Given the description of an element on the screen output the (x, y) to click on. 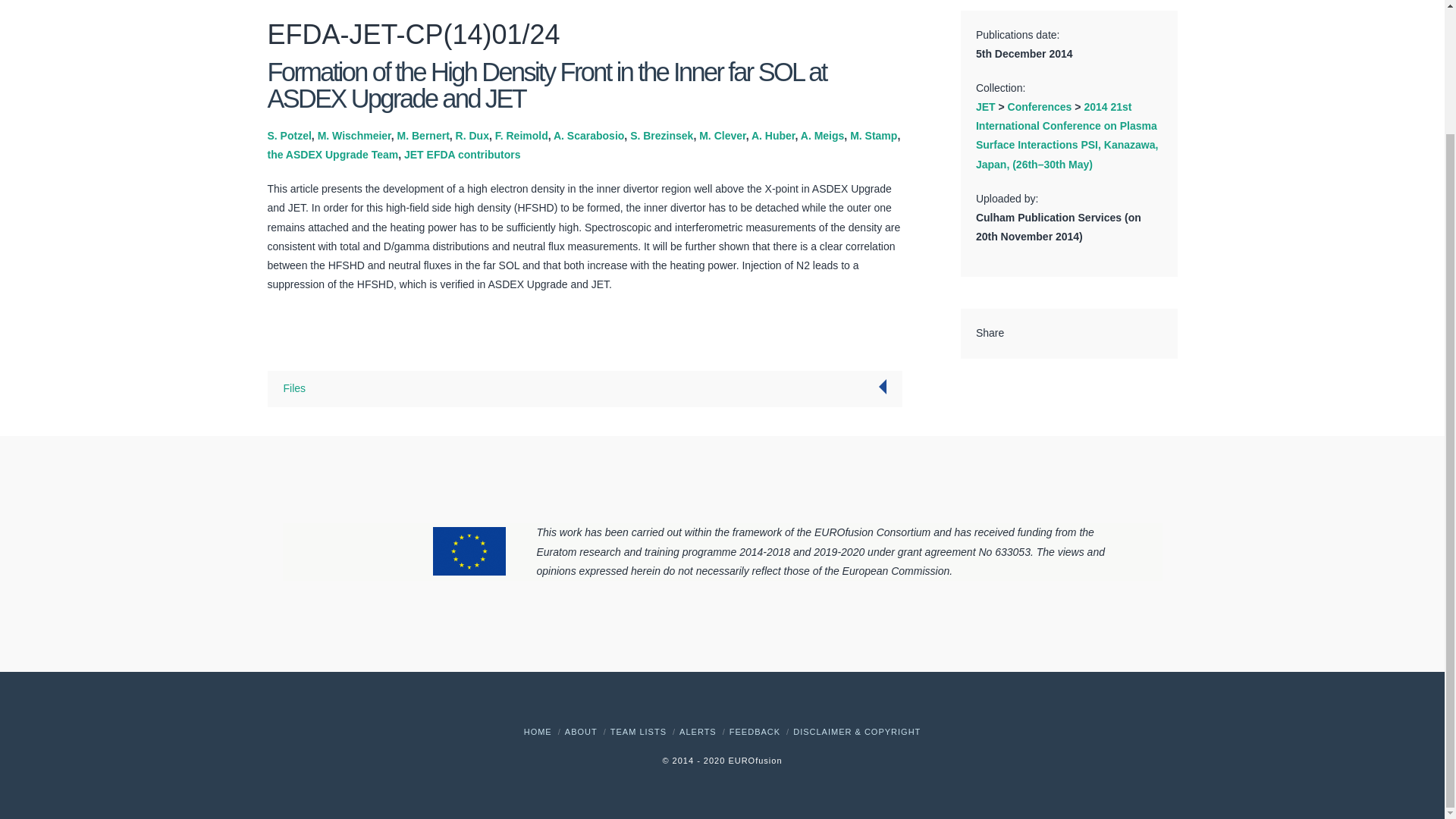
HOME (537, 731)
M. Wischmeier (354, 135)
S. Potzel (288, 135)
A. Meigs (822, 135)
M. Clever (721, 135)
FEEDBACK (754, 731)
Conferences (1039, 106)
ALERTS (697, 731)
JET (985, 106)
M. Bernert (423, 135)
